Given the description of an element on the screen output the (x, y) to click on. 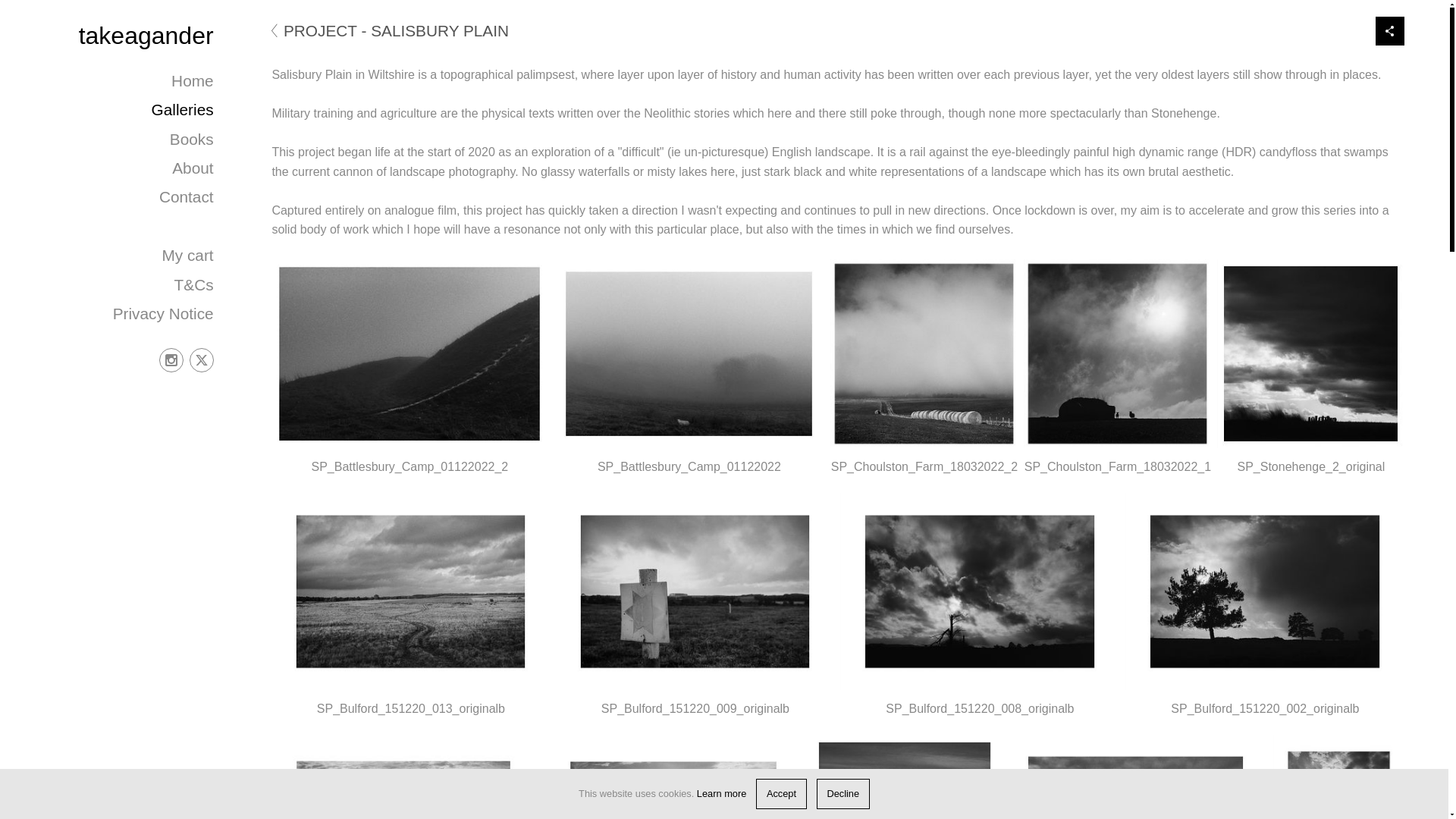
takeagander (146, 35)
Galleries (182, 108)
Books (192, 139)
Privacy Notice (163, 313)
About (191, 167)
Home (191, 80)
My cart (186, 254)
Contact (186, 196)
